Given the description of an element on the screen output the (x, y) to click on. 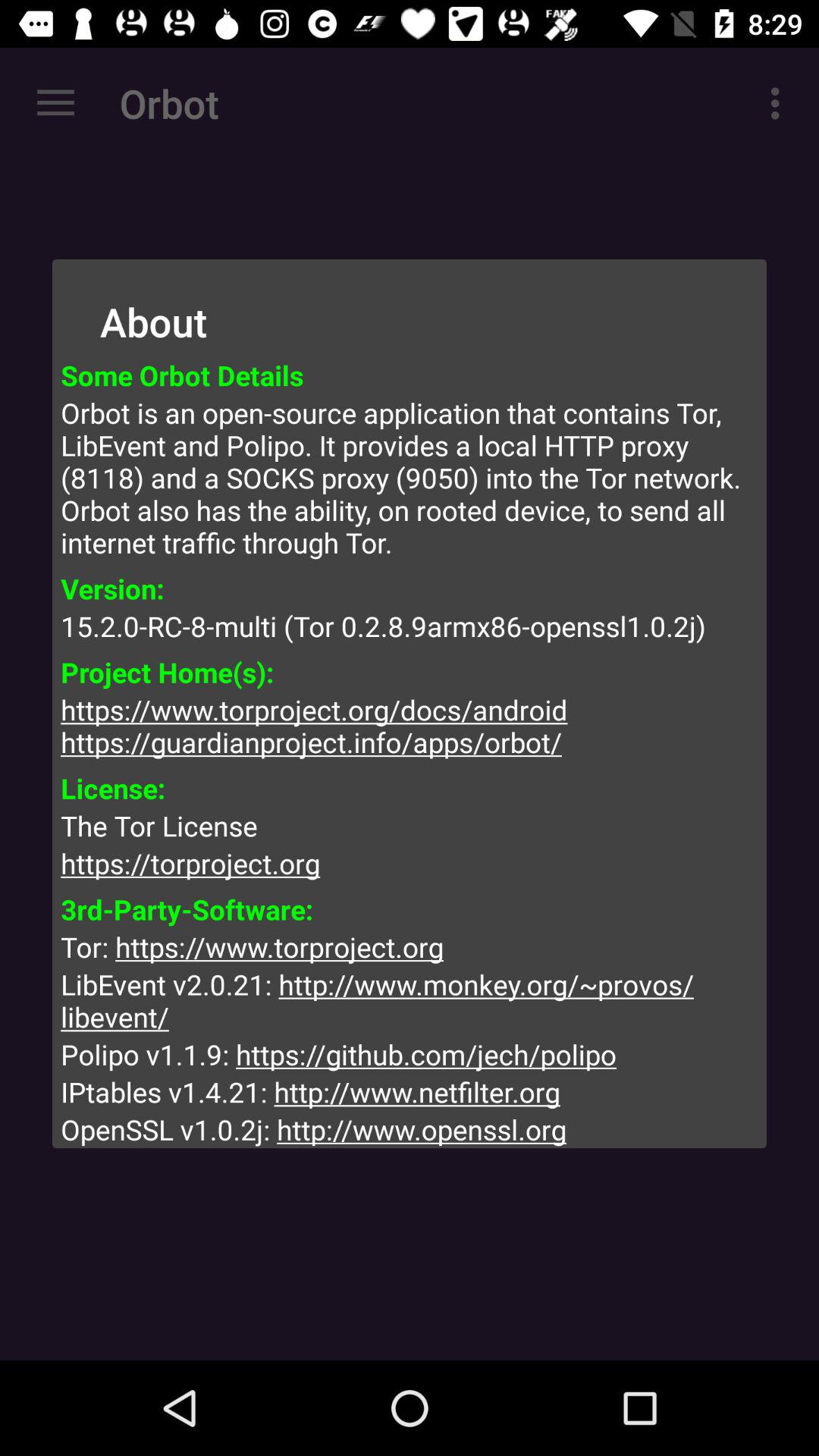
click item below the polipo v1 1 icon (409, 1091)
